Given the description of an element on the screen output the (x, y) to click on. 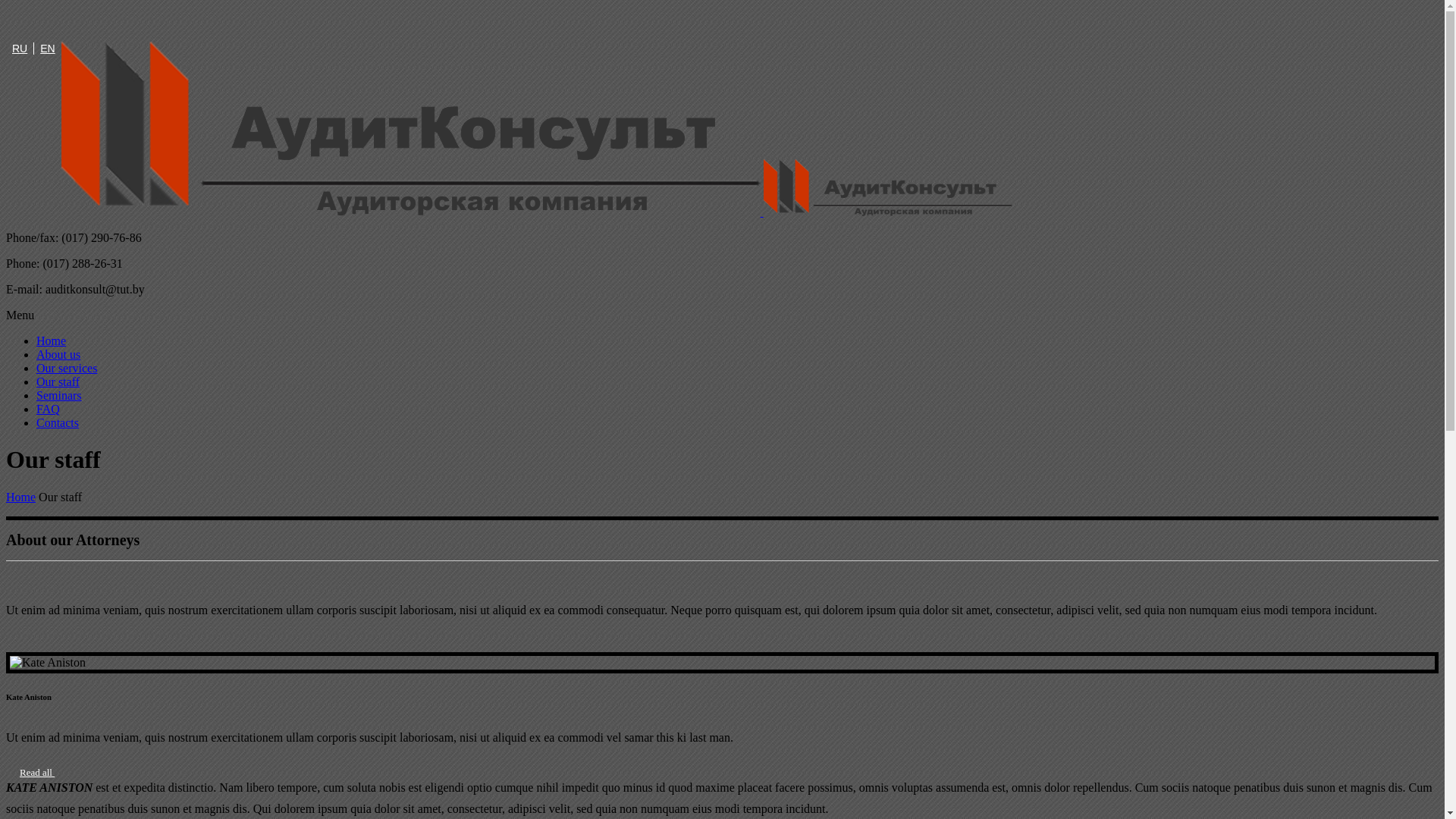
RU Element type: text (20, 48)
vk Element type: hover (21, 20)
Home Element type: text (20, 496)
facebook Element type: hover (58, 20)
instagram Element type: hover (96, 20)
About us Element type: text (58, 354)
Home Element type: text (50, 340)
EN Element type: text (47, 48)
Seminars Element type: text (58, 395)
Kate Element type: hover (722, 662)
Our services Element type: text (66, 367)
Our staff Element type: text (57, 381)
FAQ Element type: text (47, 408)
Contacts Element type: text (57, 422)
Read all Element type: text (39, 772)
